Given the description of an element on the screen output the (x, y) to click on. 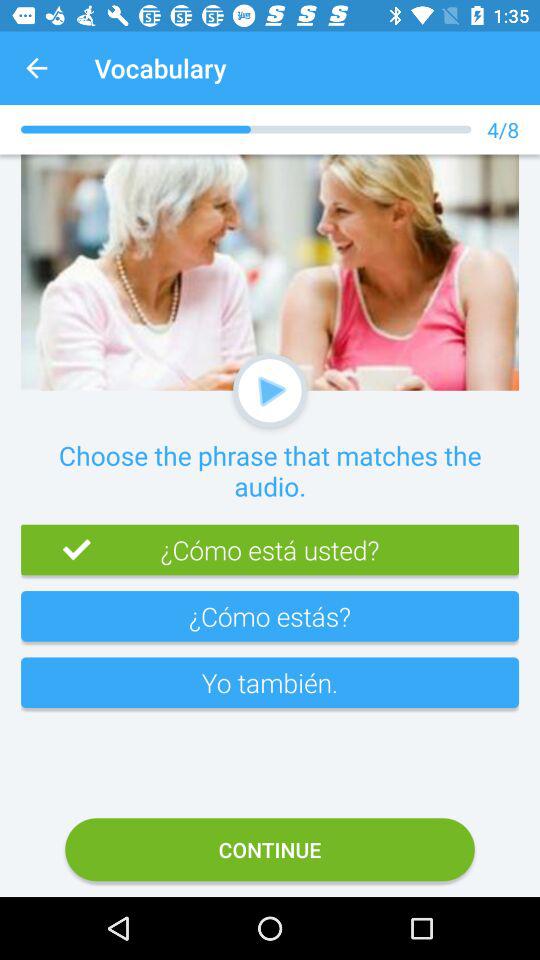
press the app to the left of vocabulary icon (36, 68)
